Given the description of an element on the screen output the (x, y) to click on. 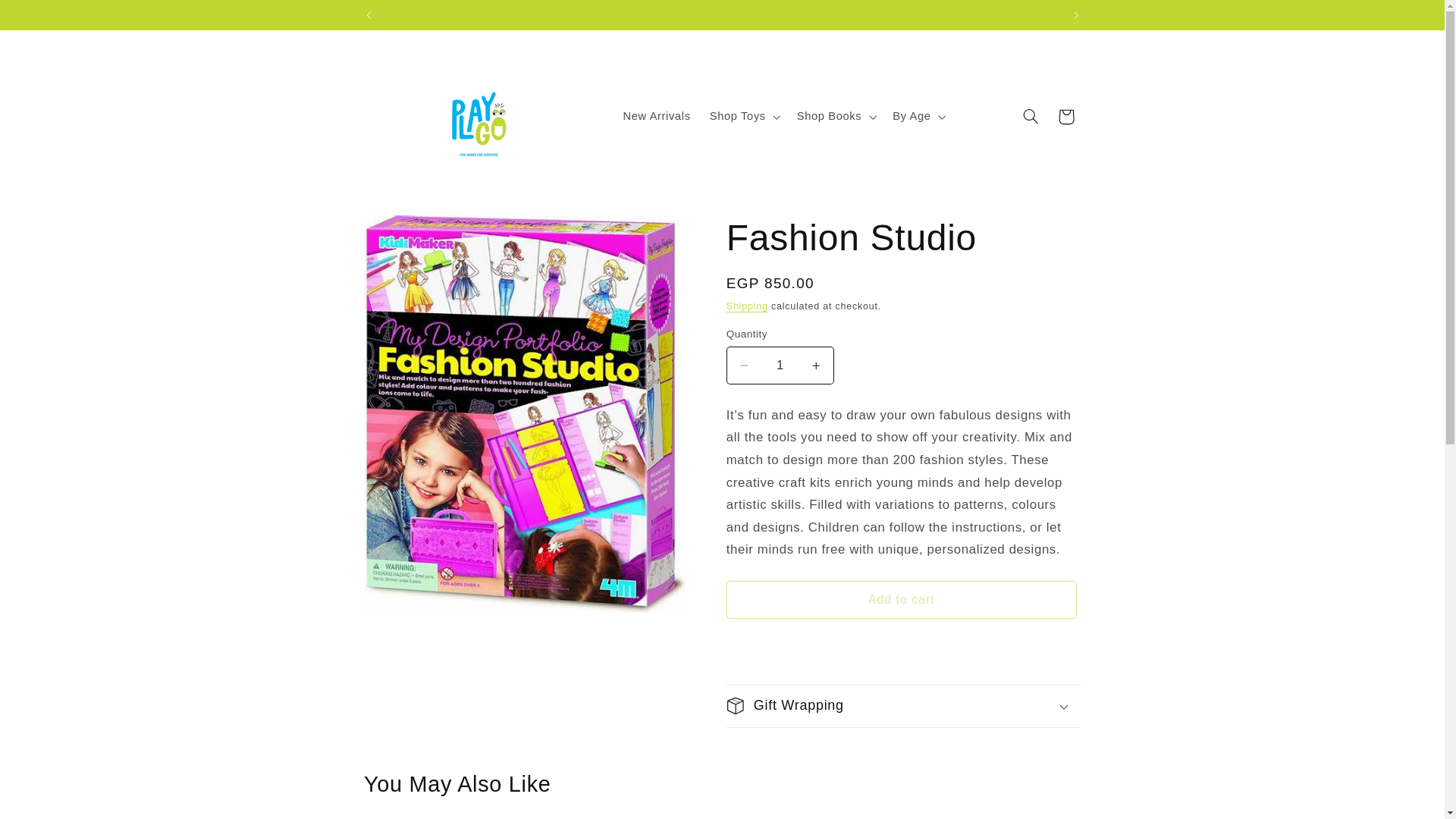
1 (780, 365)
Skip to content (48, 18)
